Given the description of an element on the screen output the (x, y) to click on. 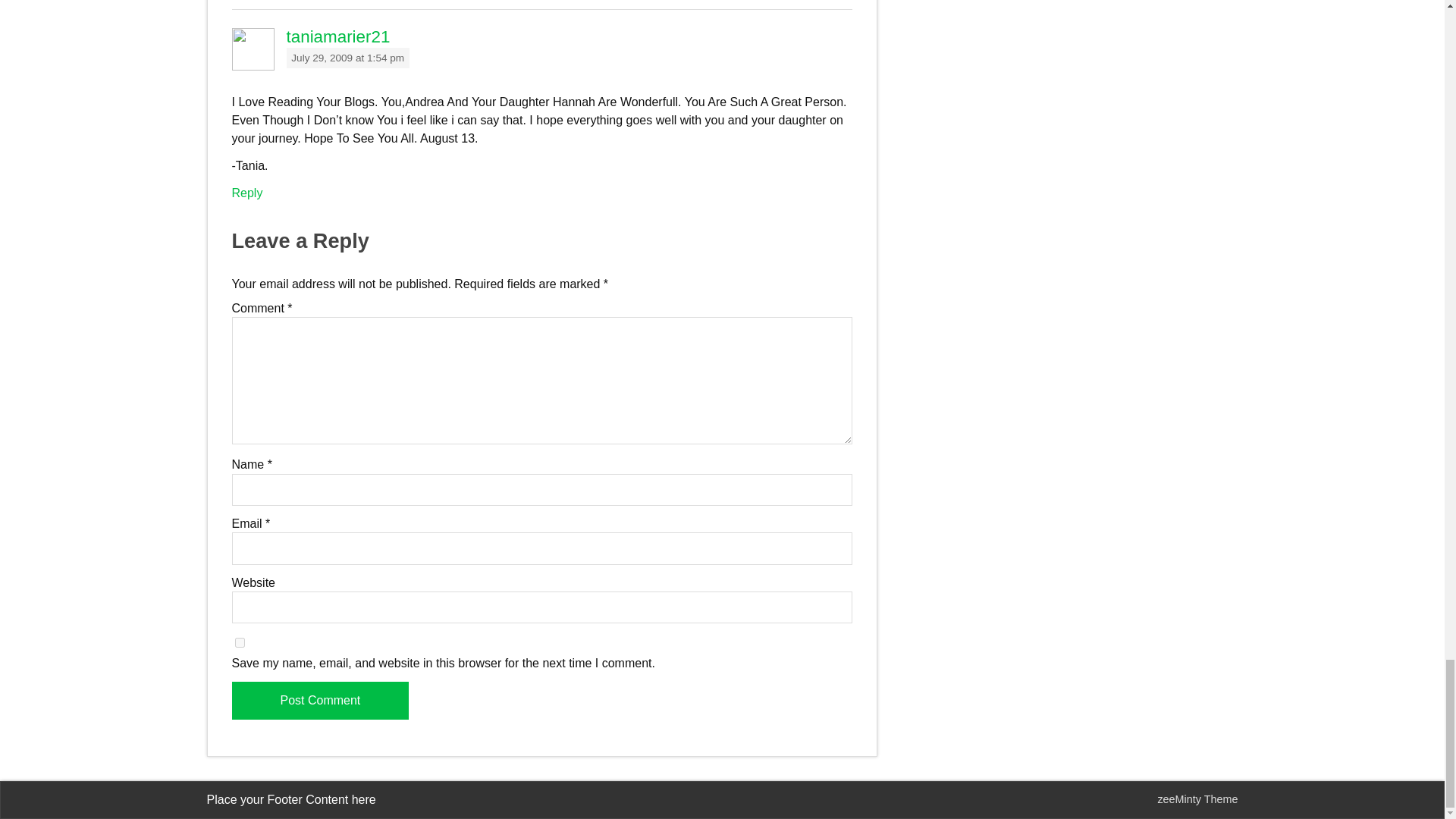
Post Comment (320, 700)
yes (239, 642)
